Given the description of an element on the screen output the (x, y) to click on. 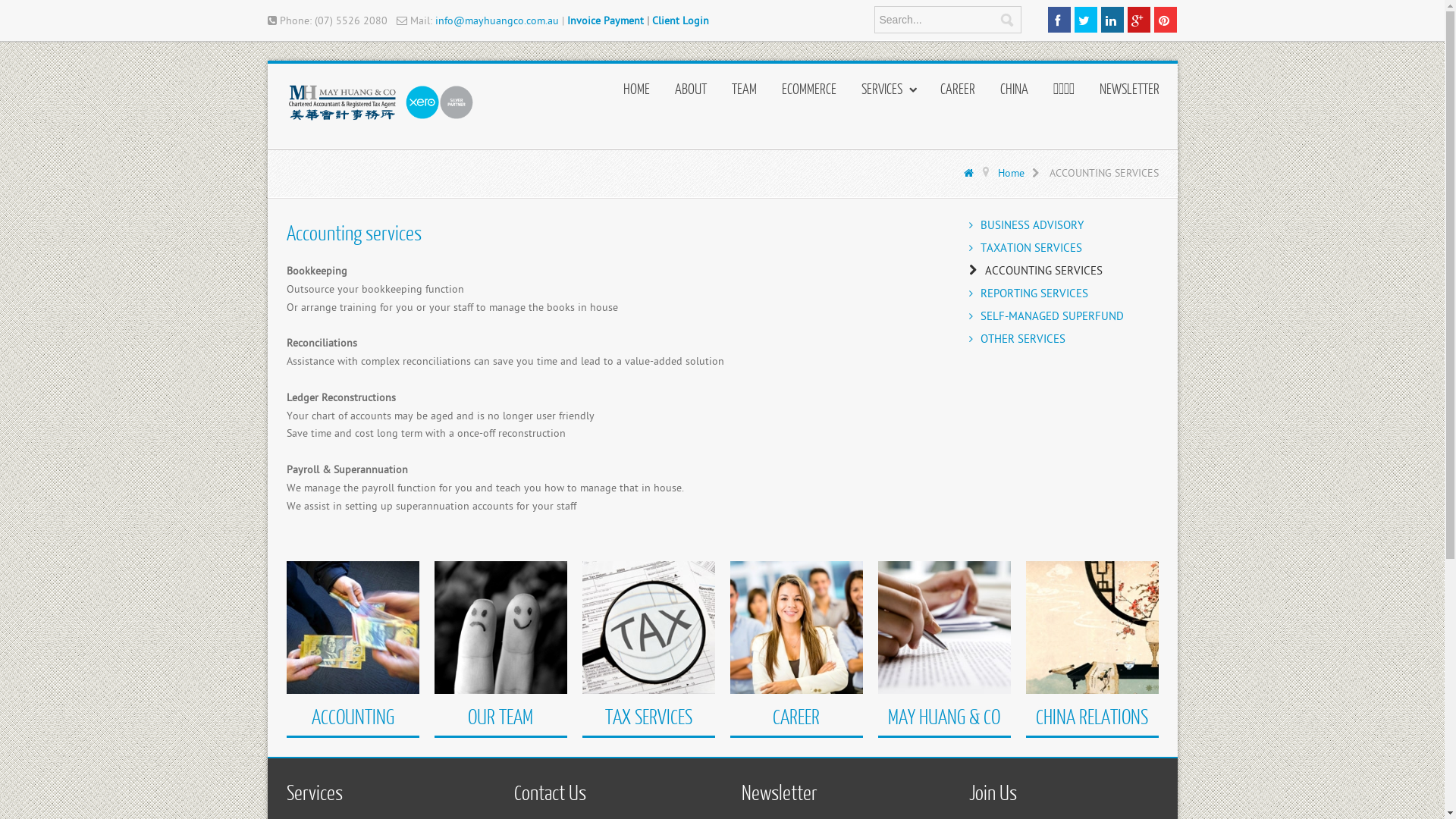
HOME Element type: text (636, 92)
Home Element type: text (1021, 172)
info@mayhuangco.com.au Element type: text (496, 21)
ABOUT Element type: text (690, 92)
  Element type: text (1112, 19)
  Element type: text (1059, 19)
SERVICES Element type: text (888, 92)
  Element type: text (1165, 19)
CHINA Element type: text (1013, 92)
Invoice Payment Element type: text (605, 21)
TAX SERVICES Element type: text (648, 715)
  Element type: text (1084, 19)
REPORTING SERVICES Element type: text (1063, 293)
TEAM Element type: text (743, 92)
MAY HUANG & CO Element type: text (944, 715)
ACCOUNTING Element type: text (351, 715)
  Element type: text (1137, 19)
OTHER SERVICES Element type: text (1063, 339)
Accounting services Element type: text (353, 231)
CHINA RELATIONS Element type: text (1091, 715)
OUR TEAM Element type: text (500, 715)
NEWSLETTER Element type: text (1129, 92)
CAREER Element type: text (957, 92)
SELF-MANAGED SUPERFUND Element type: text (1063, 316)
TAXATION SERVICES Element type: text (1063, 248)
CAREER Element type: text (795, 715)
ECOMMERCE Element type: text (808, 92)
BUSINESS ADVISORY Element type: text (1063, 225)
ACCOUNTING SERVICES Element type: text (1063, 271)
Client Login Element type: text (680, 21)
